Given the description of an element on the screen output the (x, y) to click on. 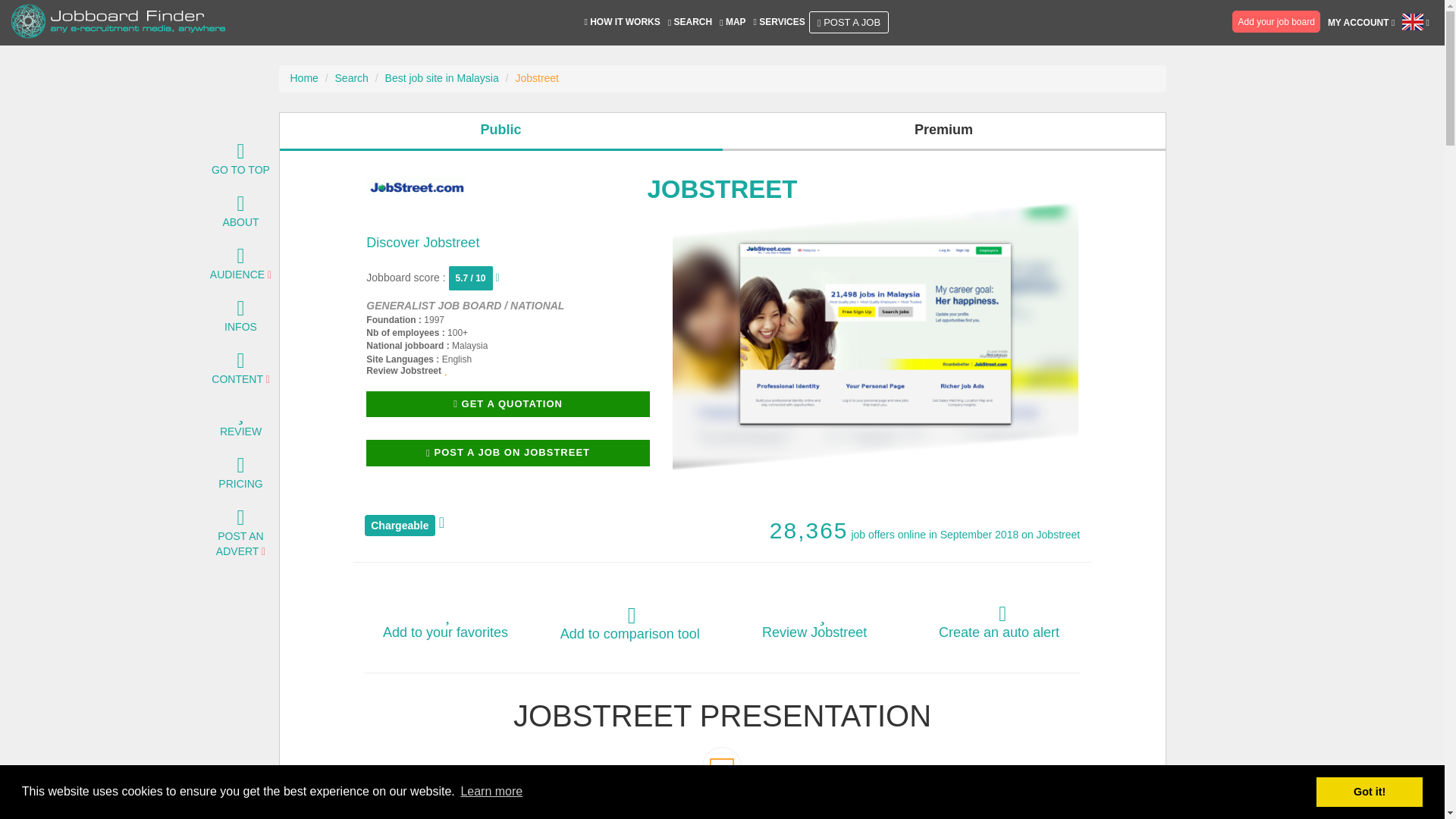
Home (303, 78)
Got it! (1369, 791)
JobboardFinder - Go back to the homepage (117, 22)
MY ACCOUNT (1360, 22)
Search (351, 78)
SEARCH (689, 21)
CONTENT (236, 370)
ABOUT (240, 214)
Add your job board (1277, 21)
AUDIENCE (236, 266)
SERVICES (779, 21)
MAP (732, 21)
Learn more (491, 791)
Review Jobstreet (406, 370)
GET A QUOTATION (507, 404)
